Given the description of an element on the screen output the (x, y) to click on. 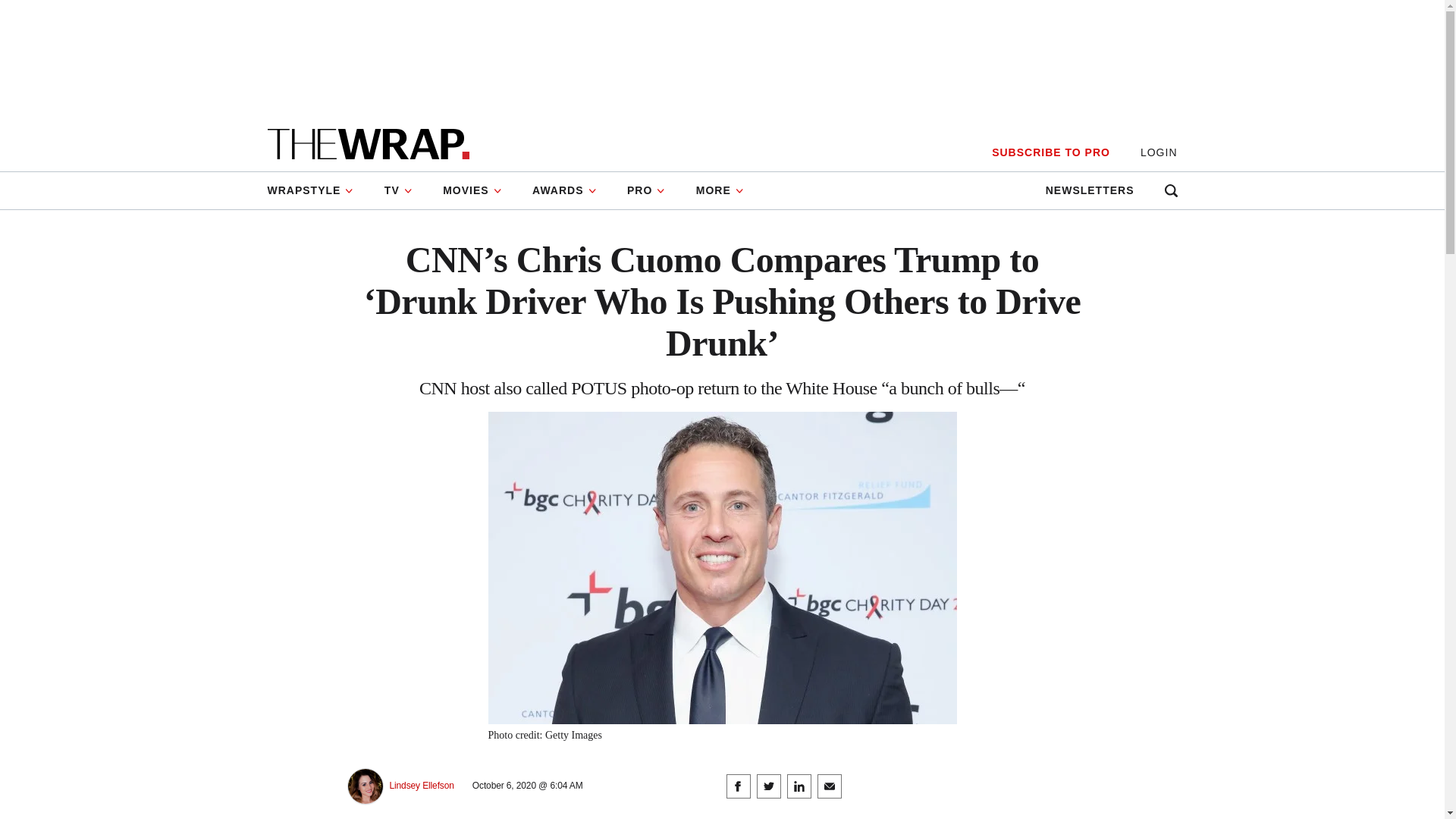
PRO (646, 190)
MORE (719, 190)
WRAPSTYLE (317, 190)
LOGIN (1158, 152)
SUBSCRIBE TO PRO (1050, 152)
MOVIES (472, 190)
Posts by Lindsey Ellefson (422, 785)
AWARDS (563, 190)
TV (398, 190)
